Given the description of an element on the screen output the (x, y) to click on. 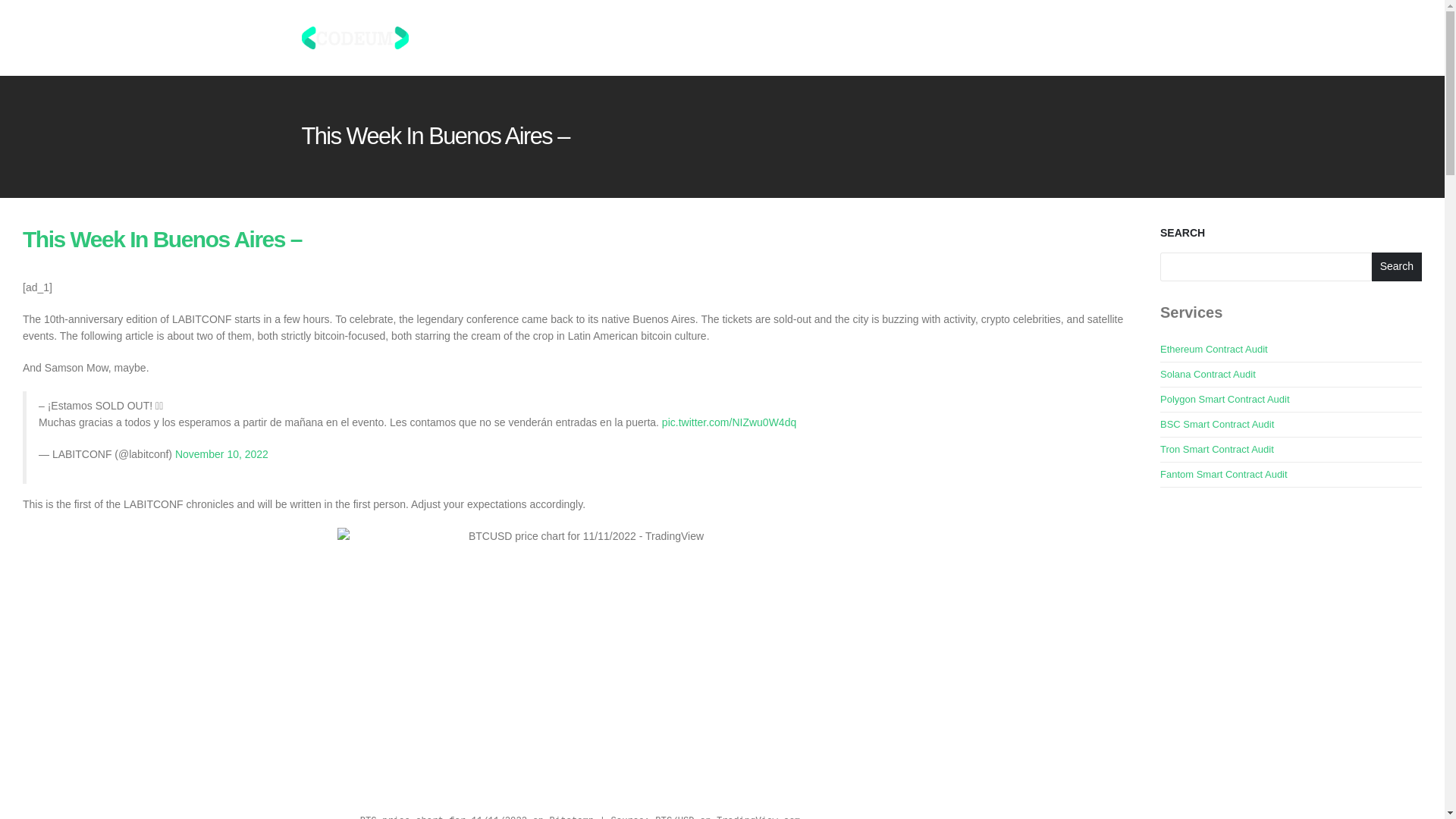
CONTACT (1036, 37)
SERVICES (971, 37)
BLOCKCHAIN PROTOCOL AUDIT (858, 37)
Codeum - Smart Contract Auditing and DApp Security (355, 37)
LAUNCH APP (1104, 37)
HOME (755, 37)
November 10, 2022 (220, 453)
